Given the description of an element on the screen output the (x, y) to click on. 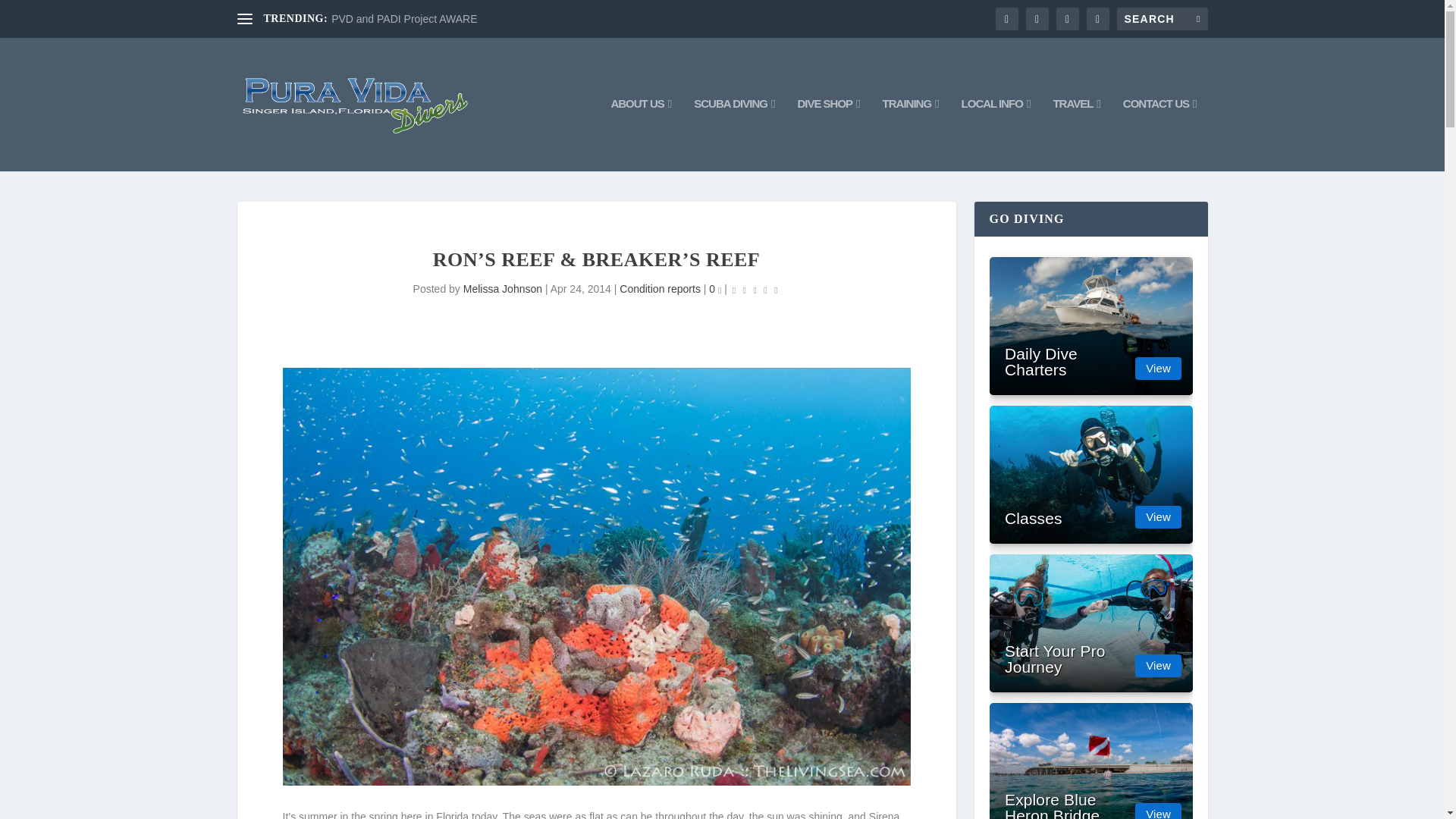
Search for: (1161, 18)
PVD and PADI Project AWARE (404, 19)
SCUBA DIVING (734, 134)
Rating: 0.00 (755, 289)
Posts by Melissa Johnson (502, 288)
